Given the description of an element on the screen output the (x, y) to click on. 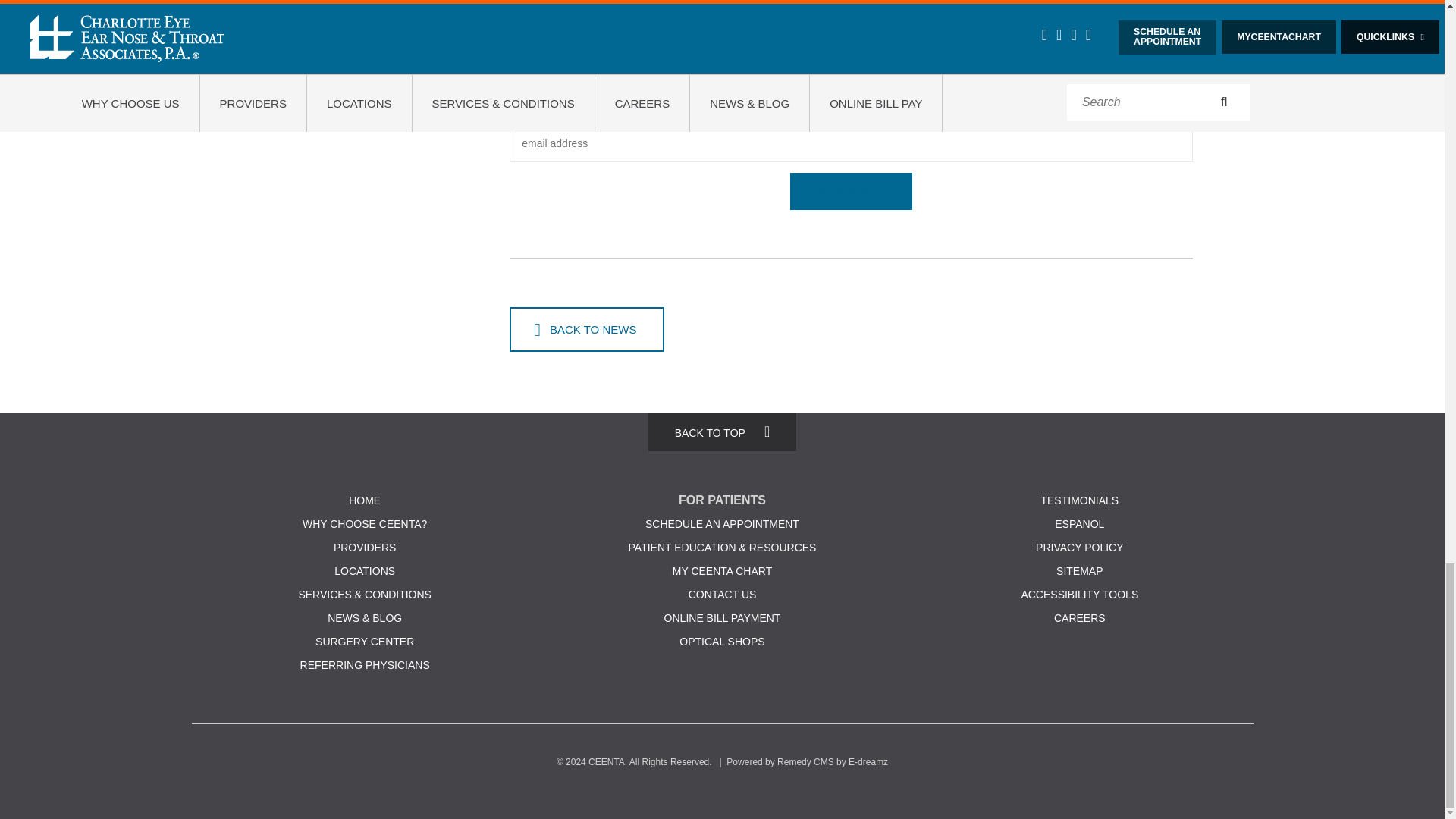
Subscribe (851, 190)
